Given the description of an element on the screen output the (x, y) to click on. 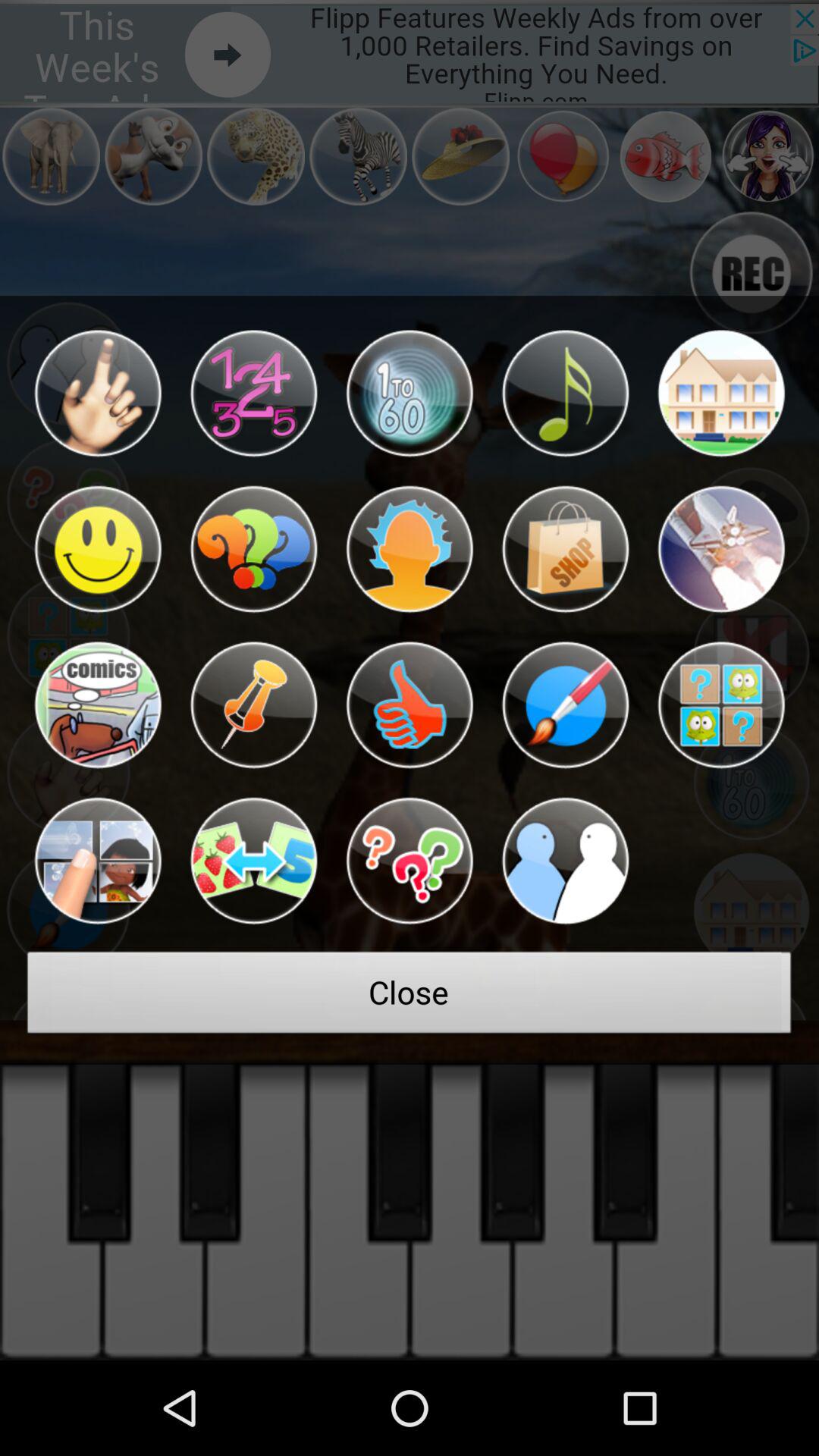
go do paint (565, 705)
